Given the description of an element on the screen output the (x, y) to click on. 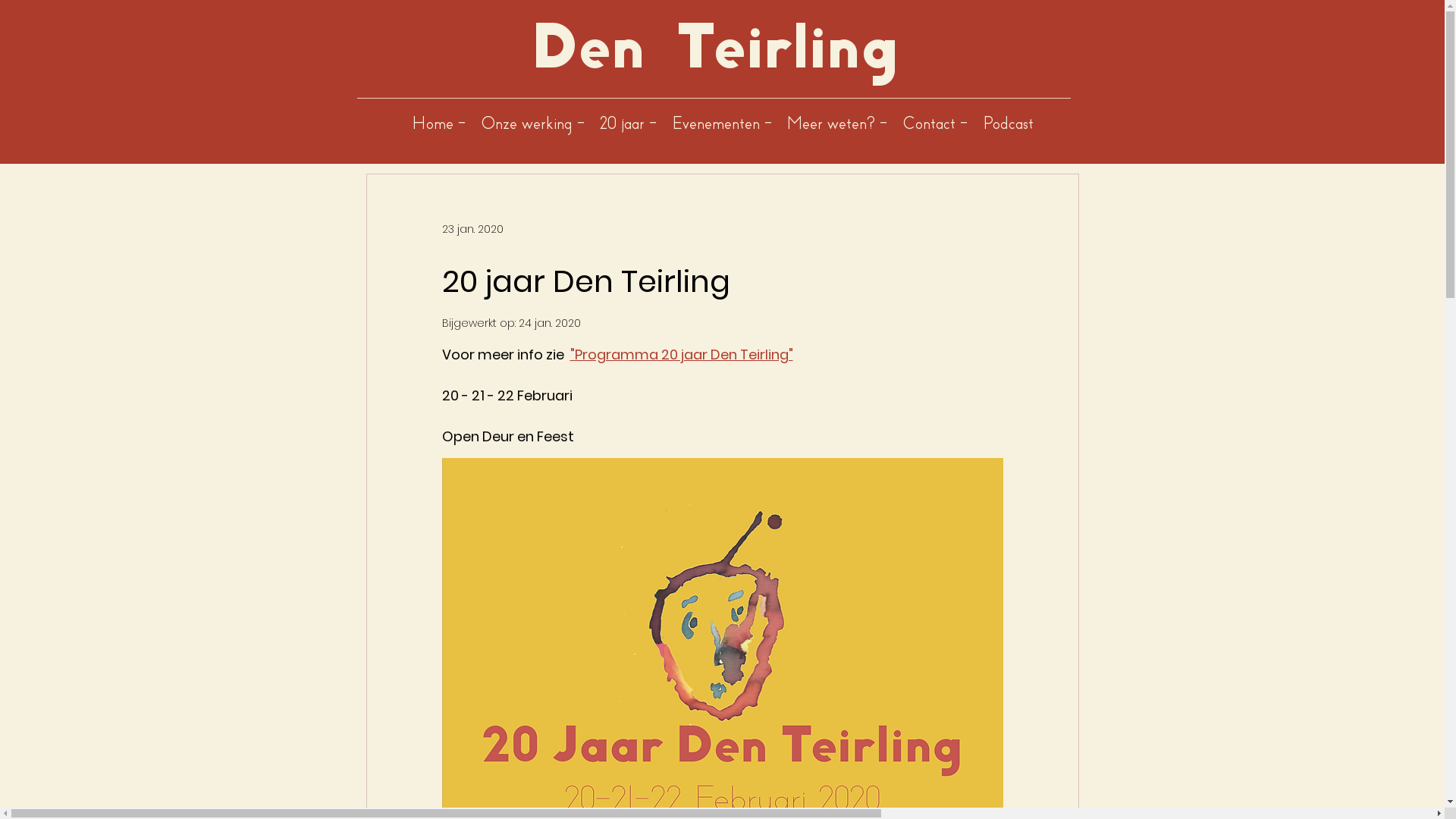
20 jaar - Element type: text (627, 122)
Evenementen - Element type: text (721, 122)
Contact - Element type: text (934, 122)
"Programma 20 jaar Den Teirling" Element type: text (681, 354)
Home - Element type: text (437, 122)
Meer weten? - Element type: text (836, 122)
Onze werking - Element type: text (532, 122)
Den  Teirling Element type: text (714, 46)
Podcast Element type: text (1008, 122)
